Given the description of an element on the screen output the (x, y) to click on. 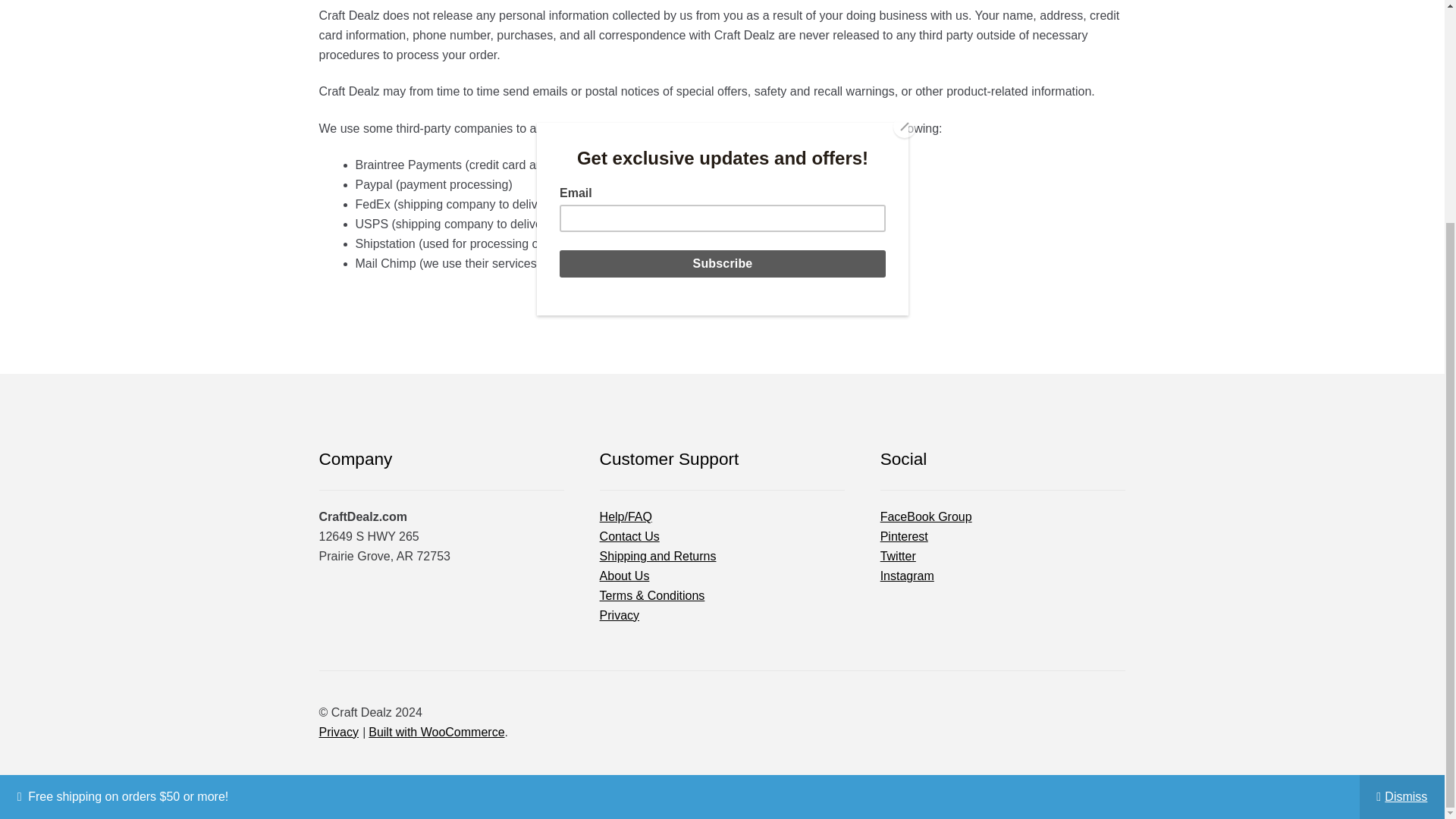
Contact Us (629, 535)
Shipping and Returns (657, 555)
WooCommerce - The Best eCommerce Platform for WordPress (435, 731)
About Us (624, 575)
